Given the description of an element on the screen output the (x, y) to click on. 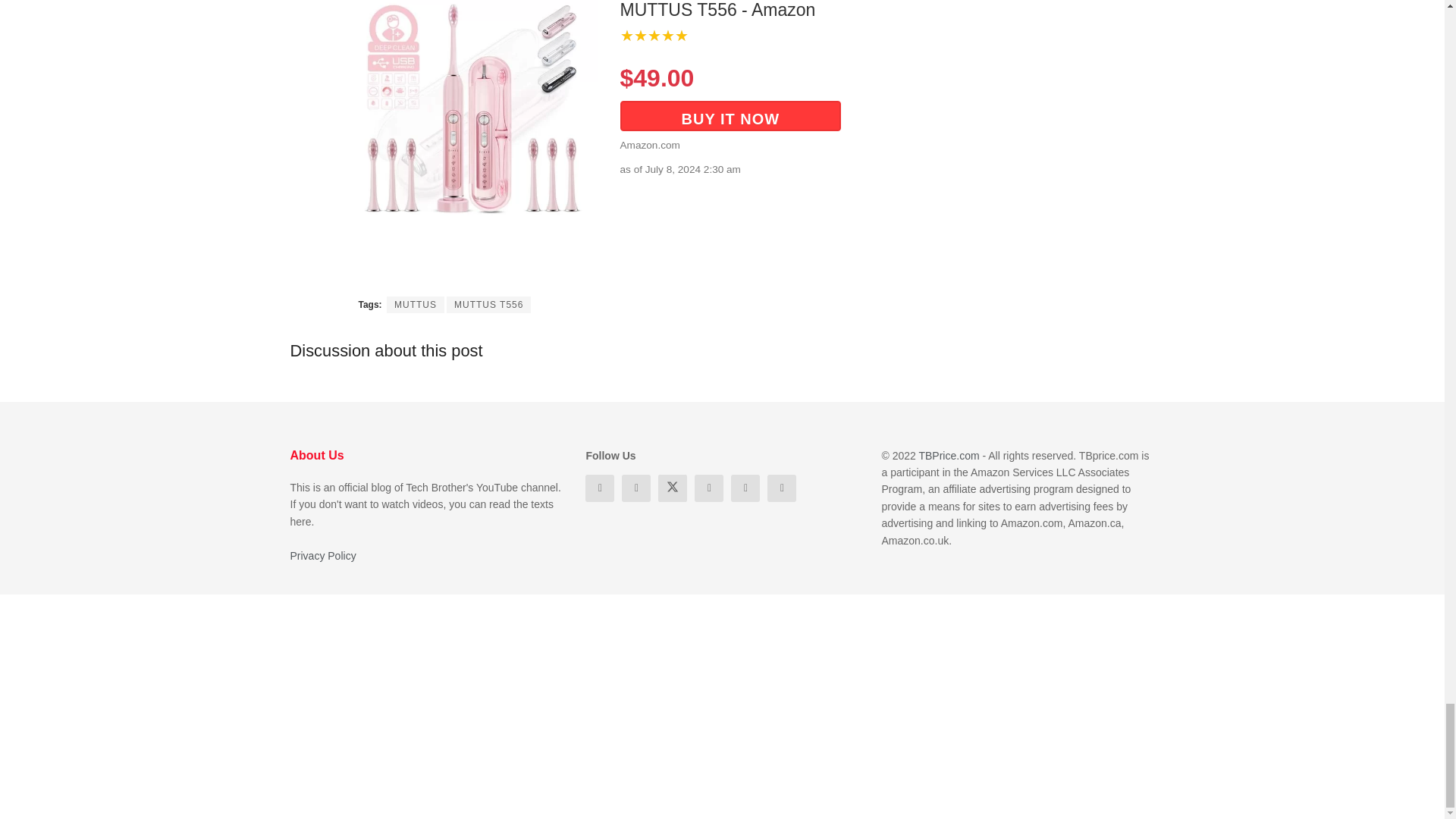
TBprice.com (948, 455)
